Given the description of an element on the screen output the (x, y) to click on. 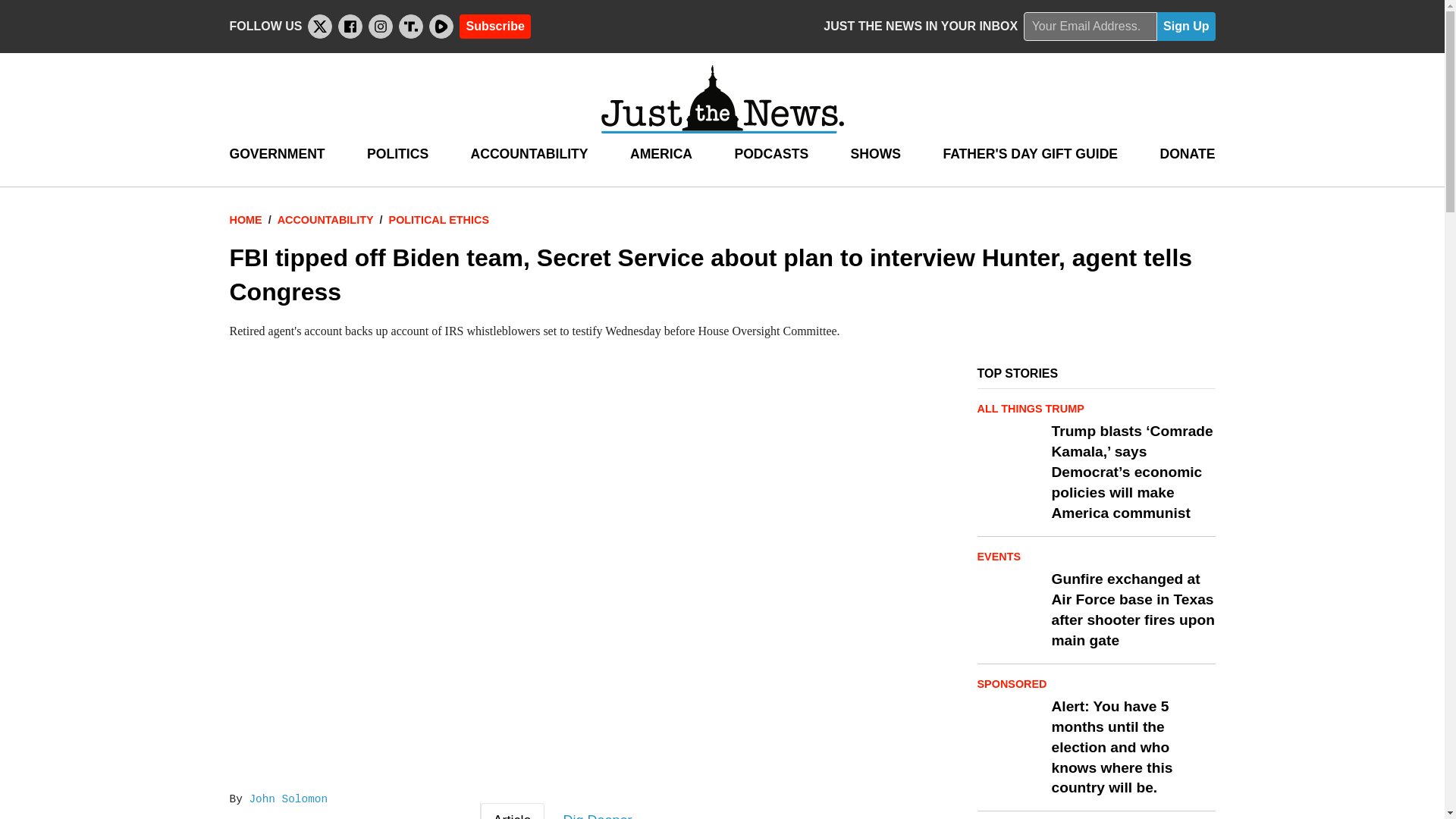
Sign Up (1185, 26)
ACCOUNTABILITY (529, 153)
DONATE (1186, 153)
GOVERNMENT (276, 153)
AMERICA (661, 153)
PODCASTS (770, 153)
POLITICS (397, 153)
SHOWS (875, 153)
FATHER'S DAY GIFT GUIDE (1030, 153)
